Given the description of an element on the screen output the (x, y) to click on. 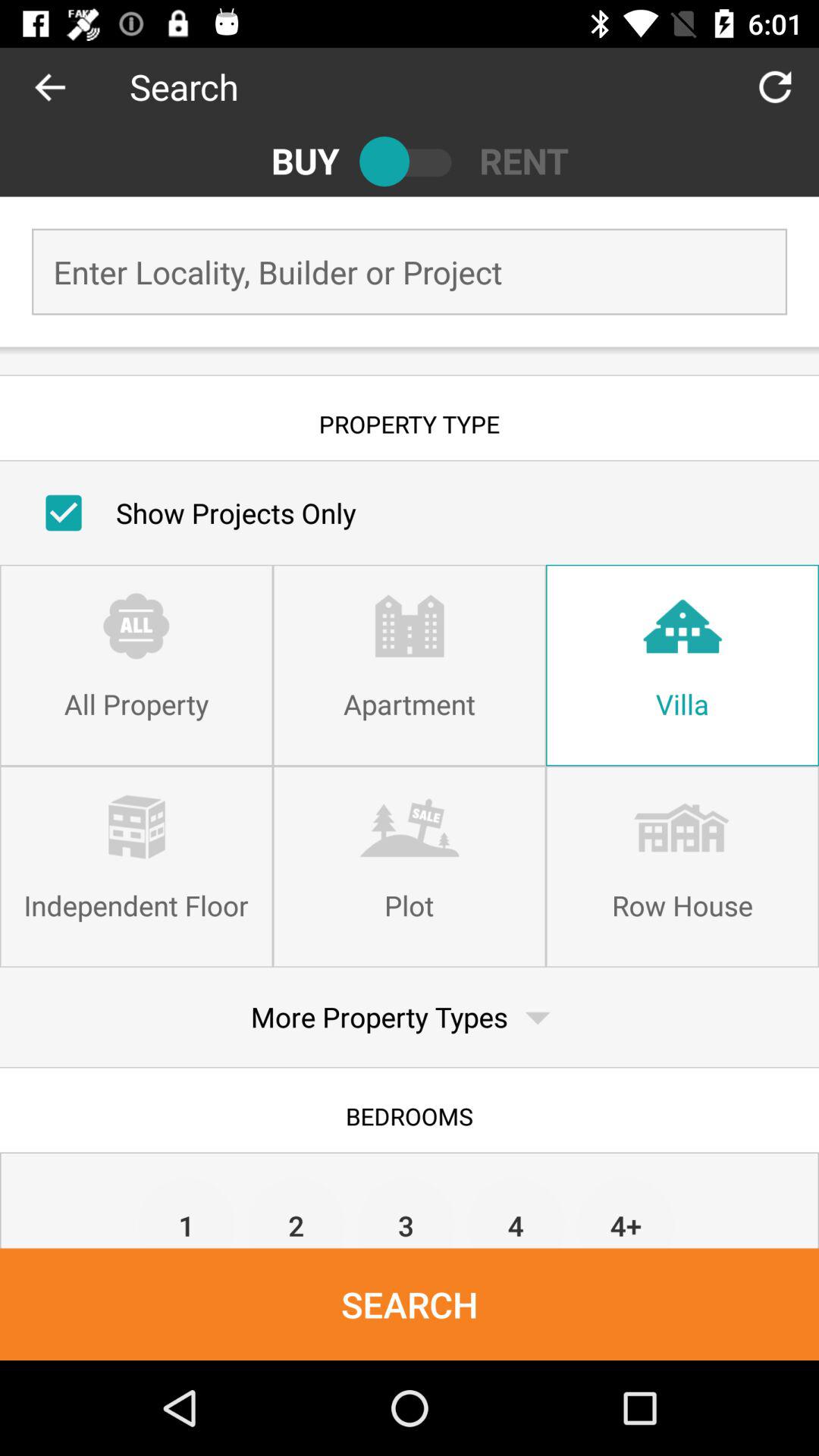
choose buy or rent (409, 161)
